Given the description of an element on the screen output the (x, y) to click on. 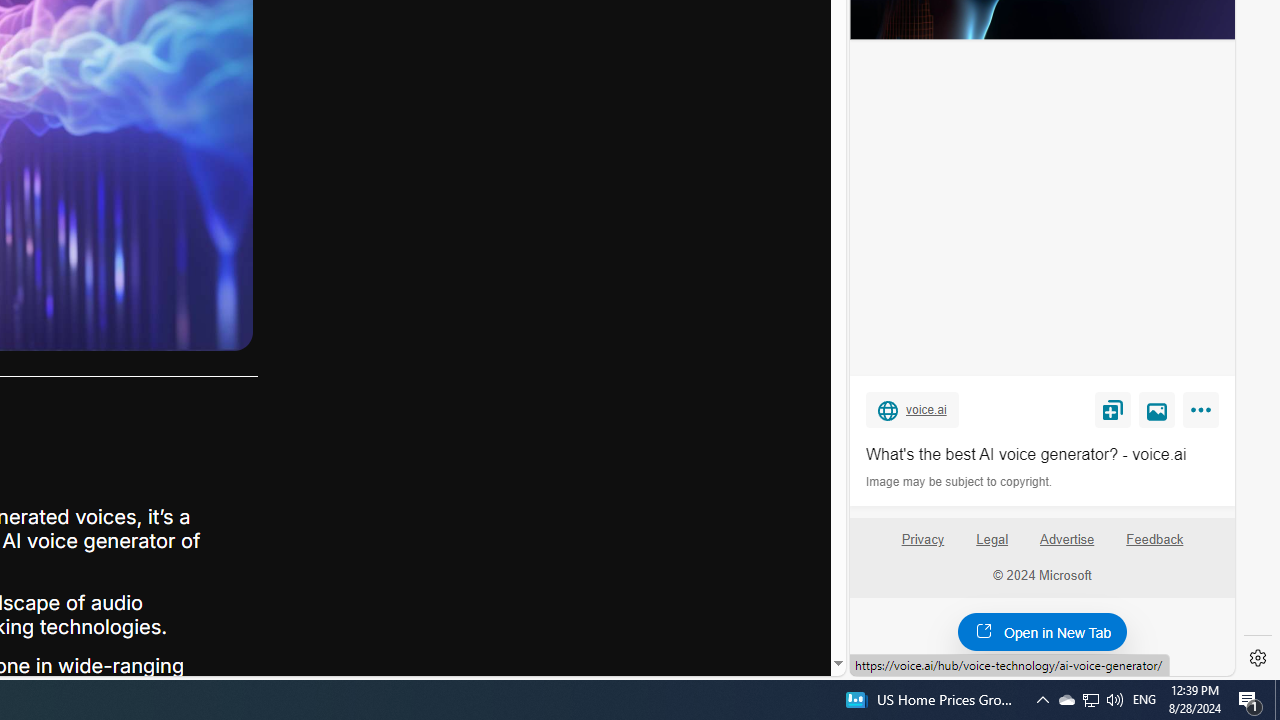
Save (1112, 409)
Legal (991, 539)
Privacy (922, 547)
